Given the description of an element on the screen output the (x, y) to click on. 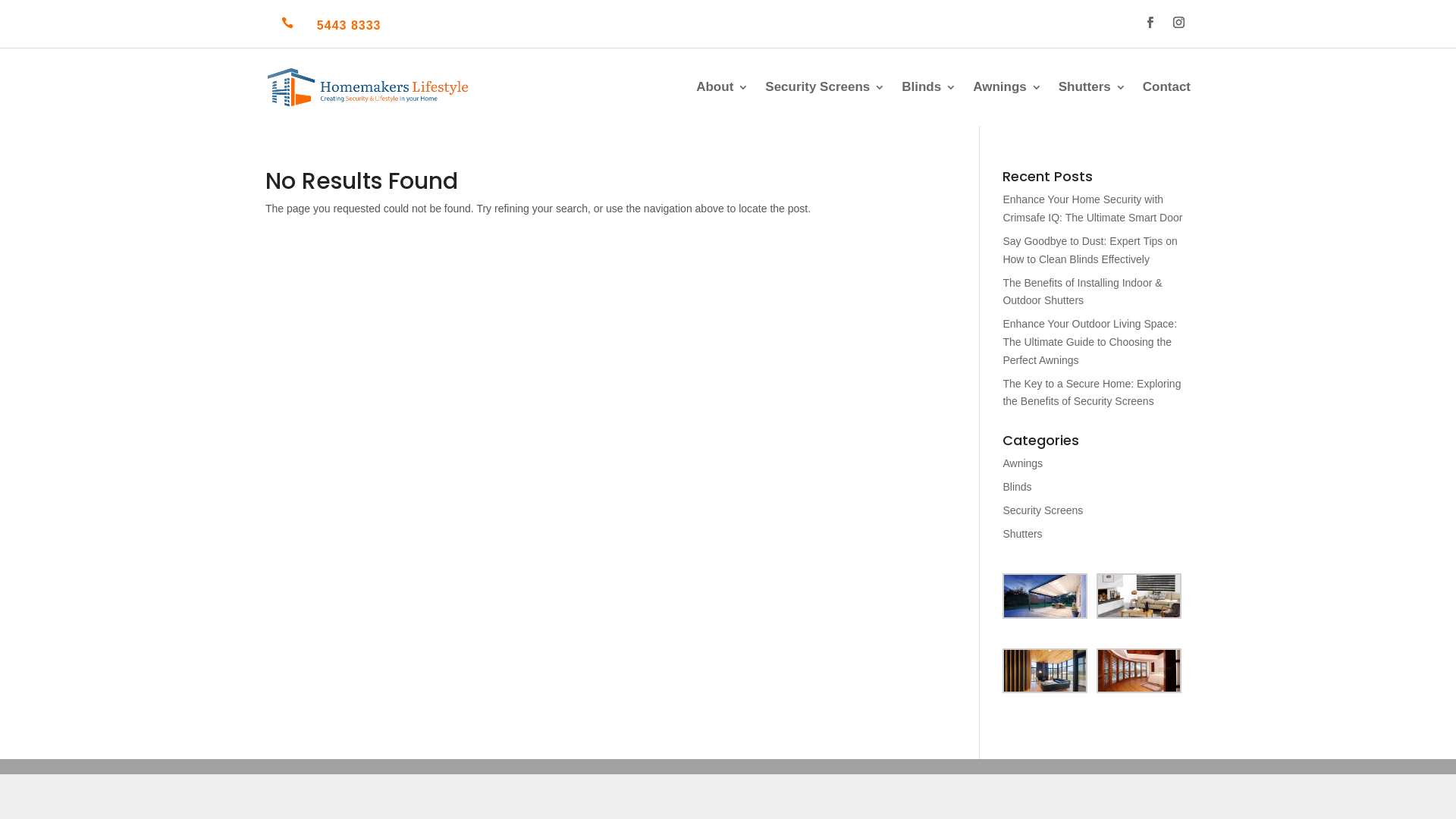
About Element type: text (722, 87)
Follow on Facebook Element type: hover (1150, 22)
Blinds Element type: text (1016, 486)
Security Screens Element type: text (1042, 510)
Blinds Element type: text (928, 87)
Shutters Element type: text (1021, 533)
The Benefits of Installing Indoor & Outdoor Shutters Element type: text (1081, 291)
Awnings Element type: text (1022, 463)
Contact Element type: text (1166, 87)
Security Screens Element type: text (824, 87)
Follow on Instagram Element type: hover (1178, 22)
Awnings Element type: text (1006, 87)
Shutters Element type: text (1092, 87)
